Given the description of an element on the screen output the (x, y) to click on. 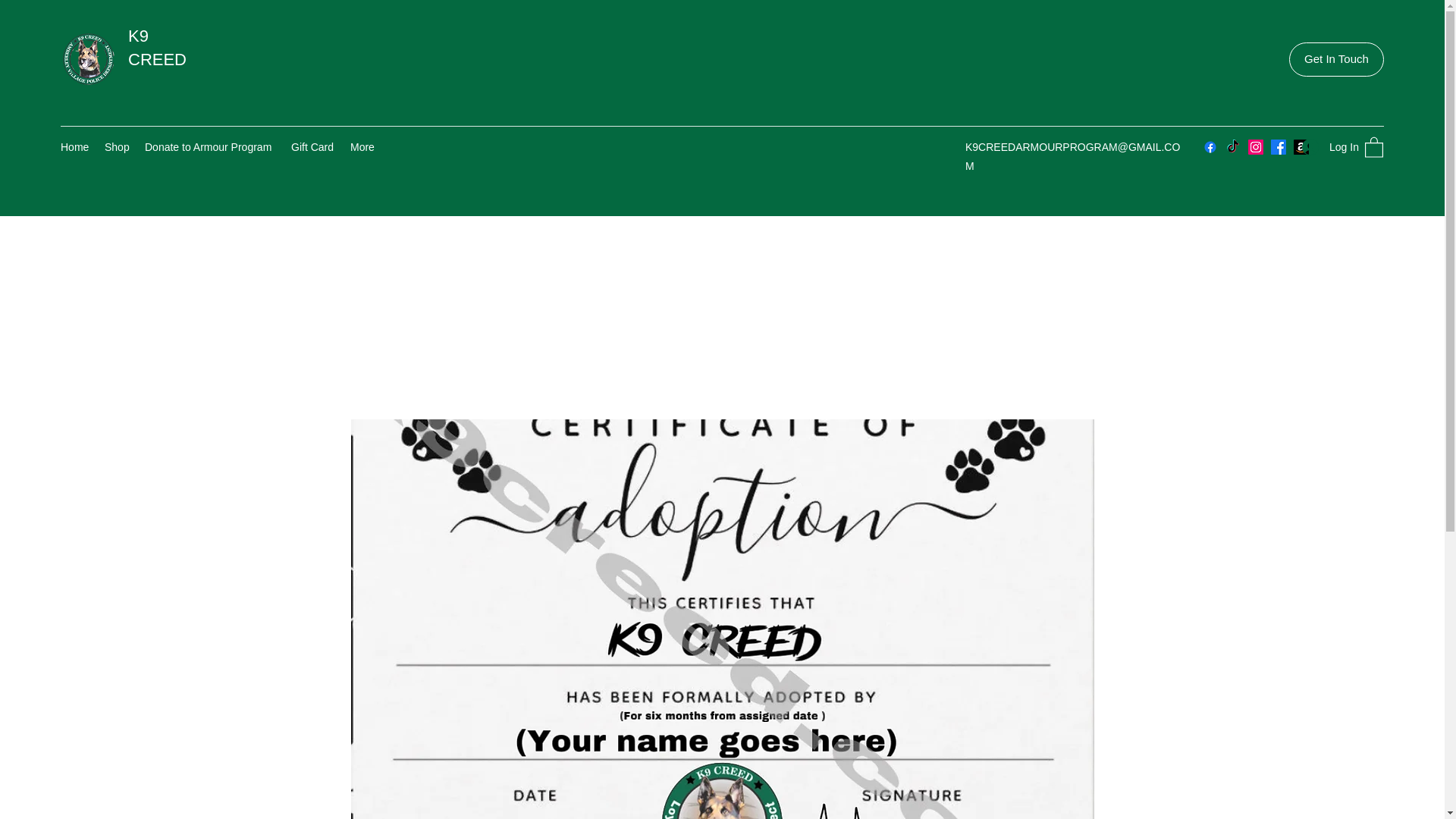
Gift Card (312, 146)
Donate to Armour Program (209, 146)
Home (74, 146)
Log In (1325, 147)
Shop (116, 146)
Get In Touch (1336, 59)
K9 CREED  (159, 47)
